Given the description of an element on the screen output the (x, y) to click on. 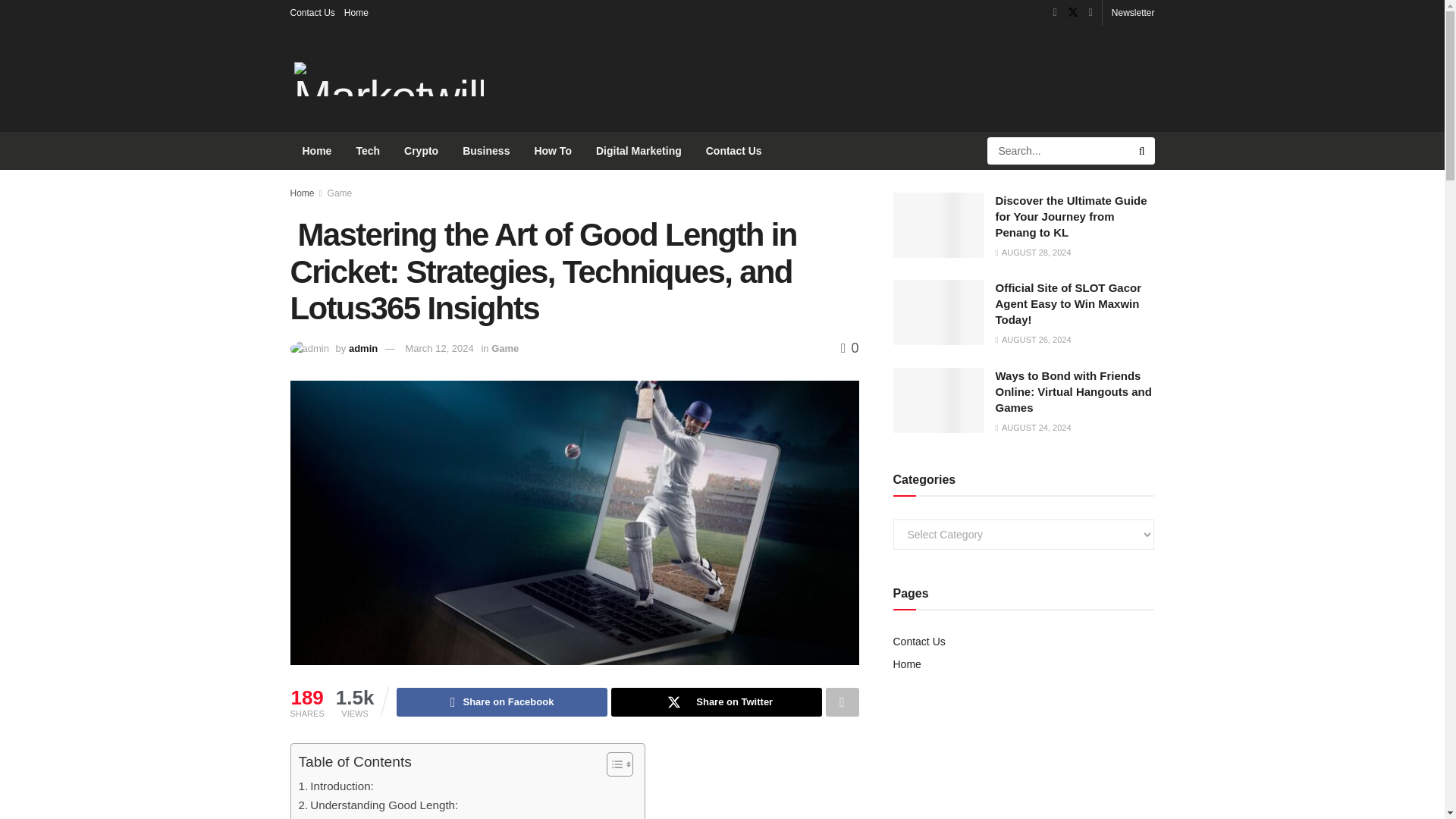
0 (850, 347)
Tech (367, 150)
March 12, 2024 (438, 348)
Home (316, 150)
How To (552, 150)
Share on Facebook (501, 701)
Home (355, 12)
Crypto (420, 150)
Home (301, 193)
Related articles (360, 816)
